Given the description of an element on the screen output the (x, y) to click on. 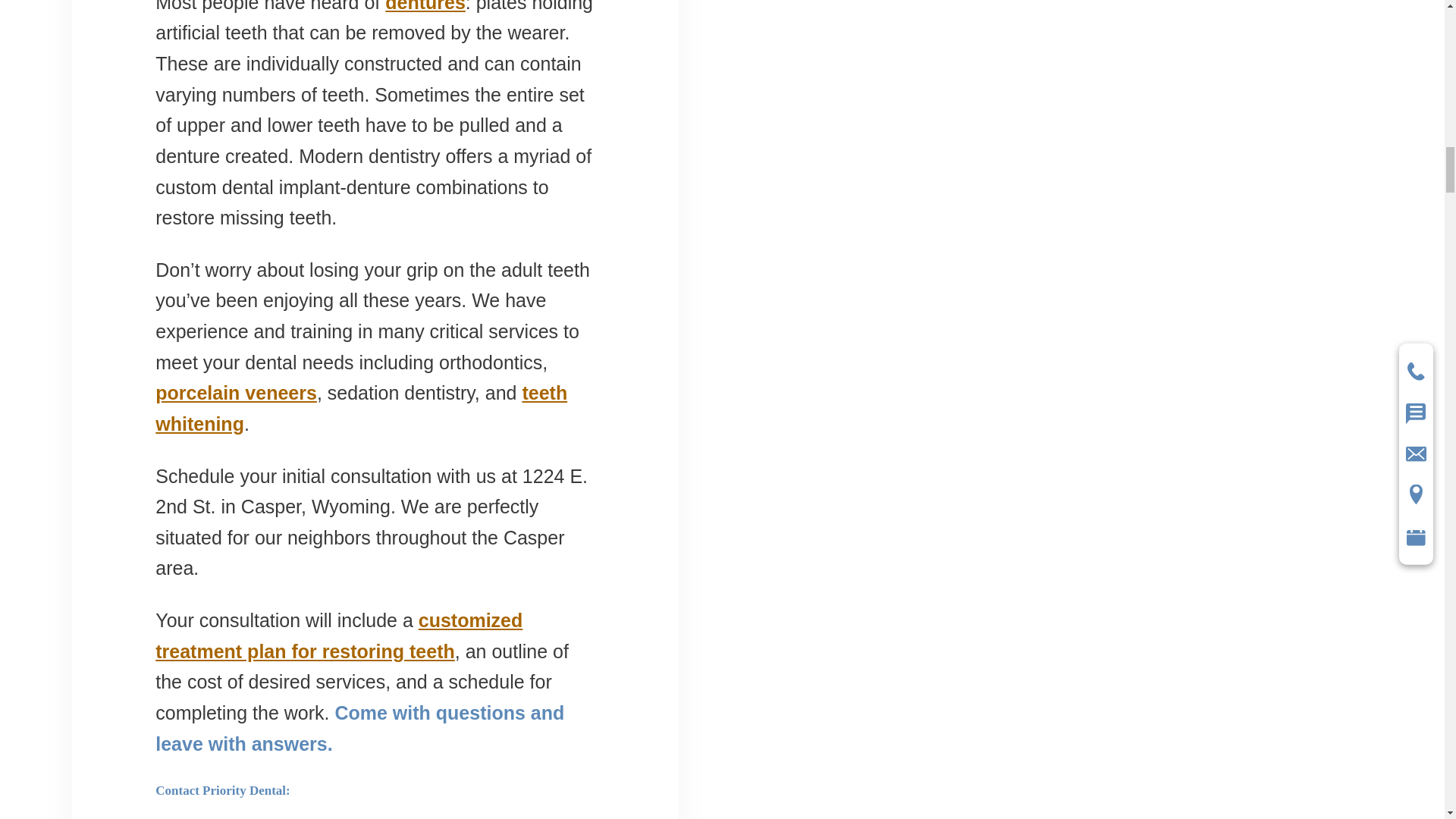
dental implant cost Riverton (338, 635)
